Given the description of an element on the screen output the (x, y) to click on. 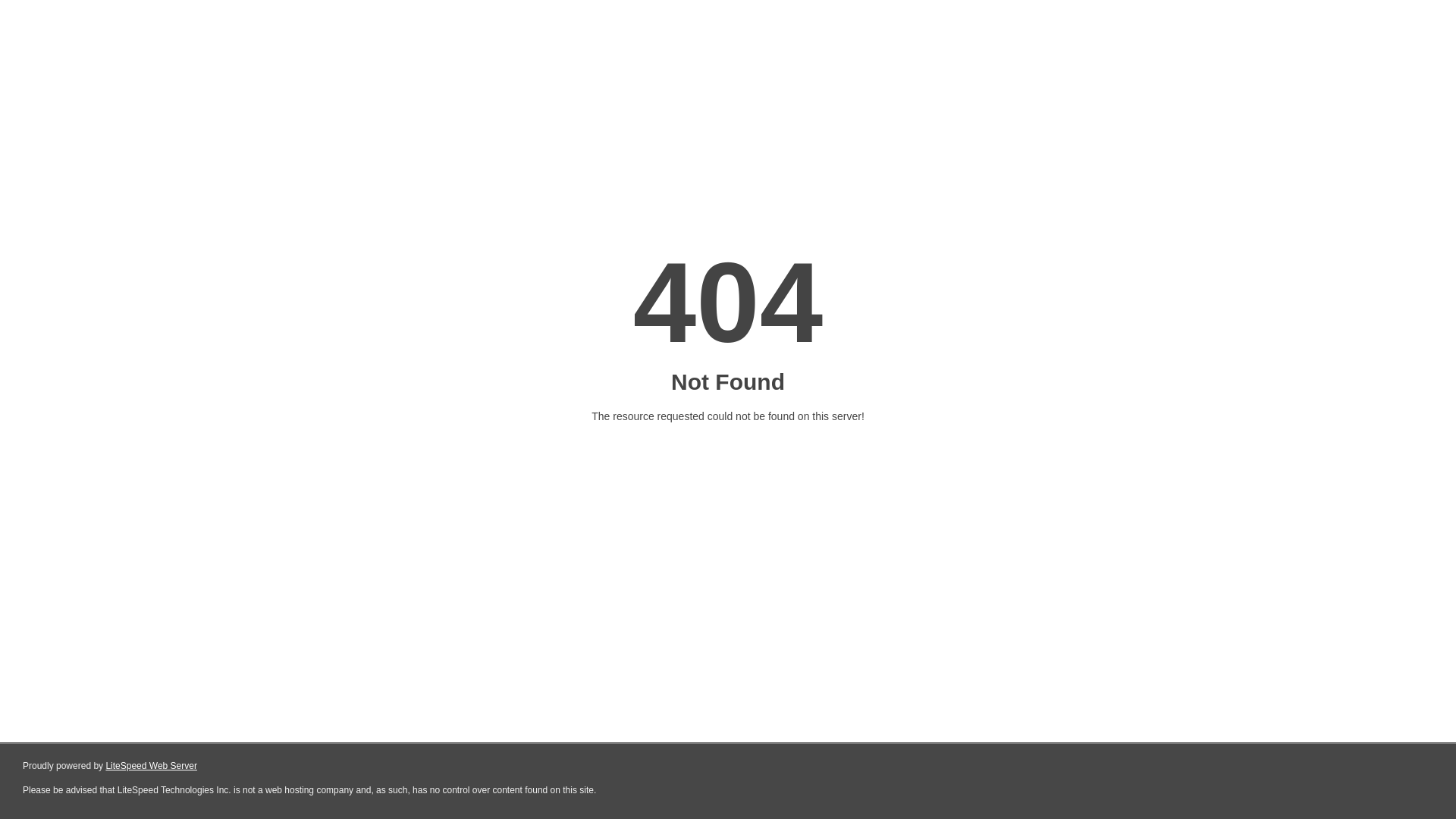
LiteSpeed Web Server Element type: text (151, 765)
